Given the description of an element on the screen output the (x, y) to click on. 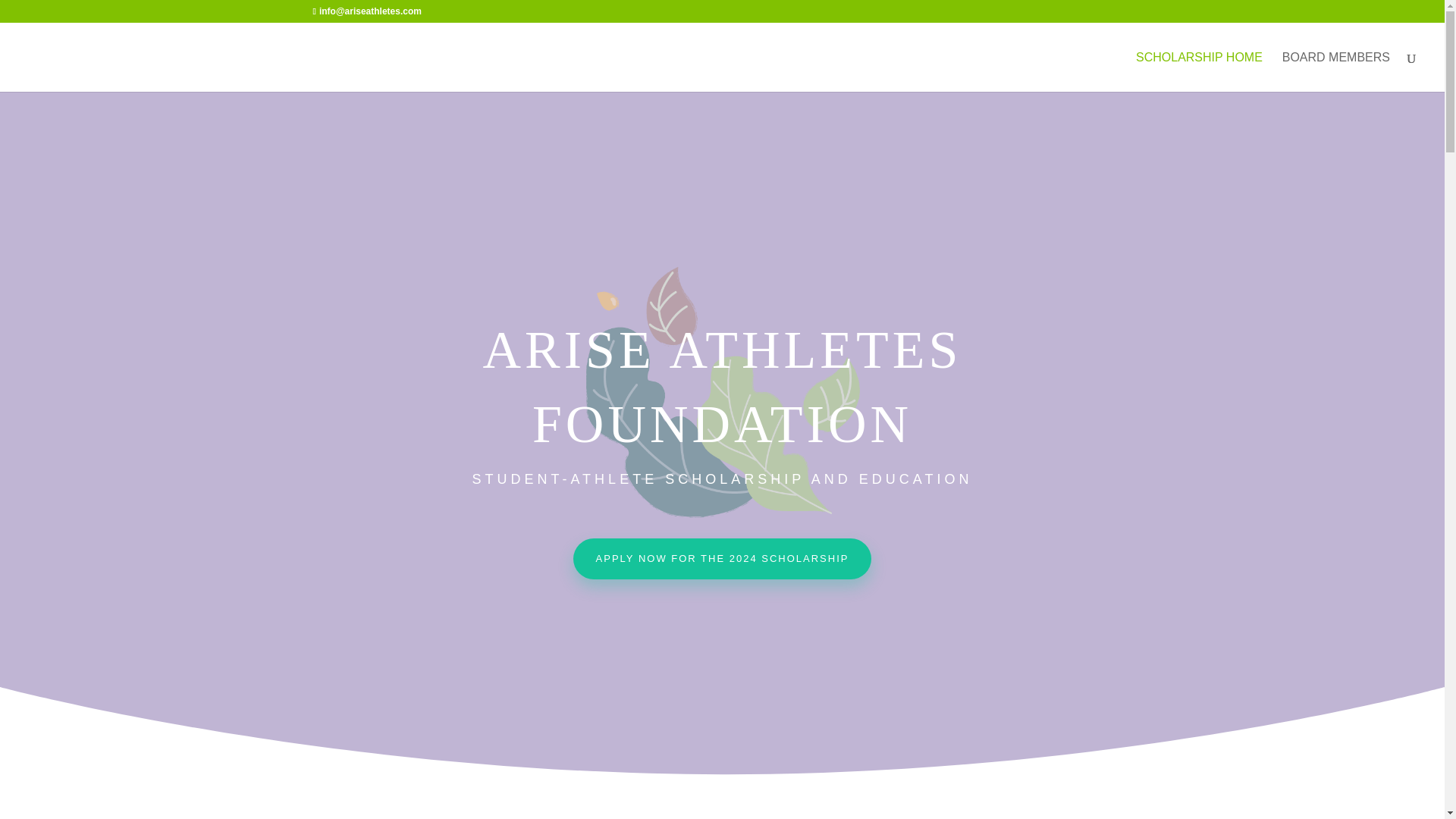
SCHOLARSHIP HOME (1198, 71)
BOARD MEMBERS (1336, 71)
APPLY NOW FOR THE 2024 SCHOLARSHIP (722, 558)
